Given the description of an element on the screen output the (x, y) to click on. 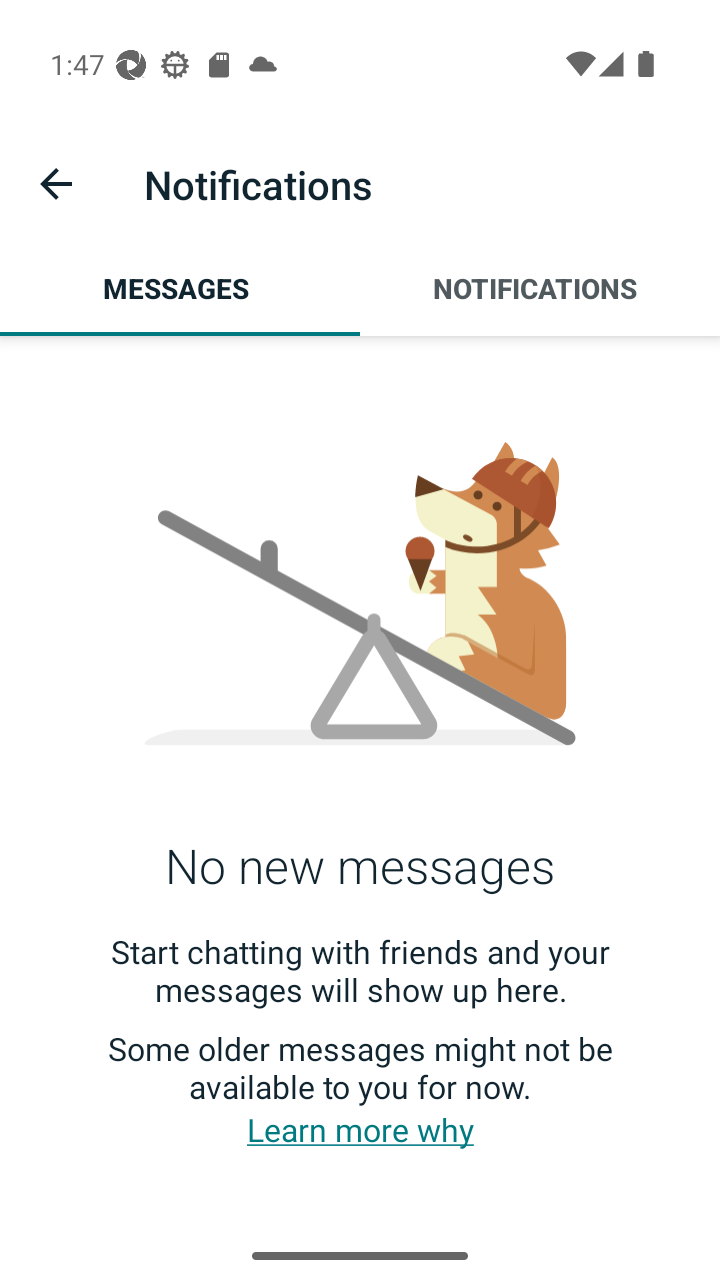
Notifications NOTIFICATIONS (540, 287)
